Given the description of an element on the screen output the (x, y) to click on. 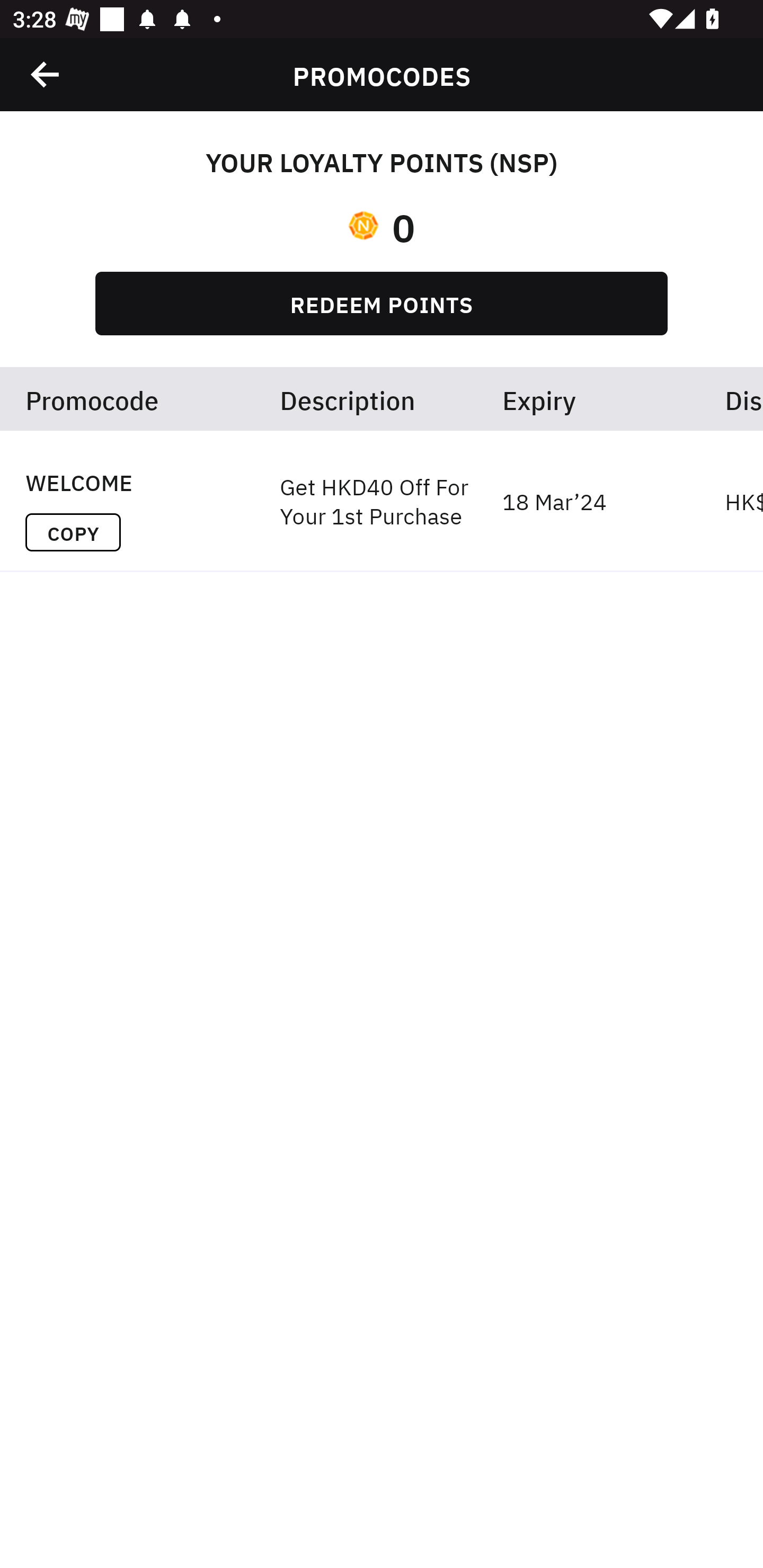
 (46, 74)
REDEEM POINTS (381, 303)
COPY (72, 531)
